Given the description of an element on the screen output the (x, y) to click on. 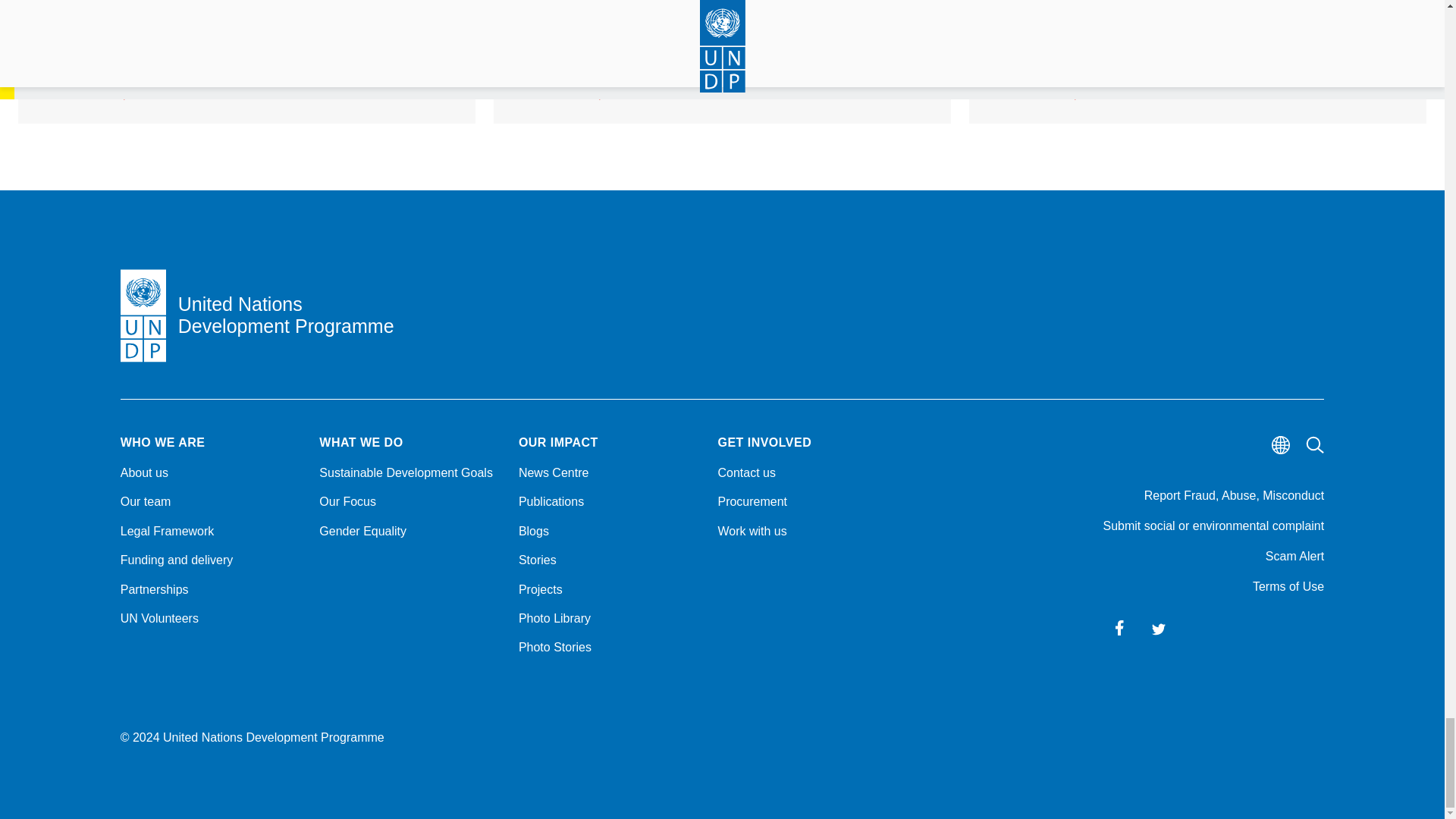
Flickr (1276, 627)
Twitter (1158, 627)
Our team (210, 501)
Legal Framework (210, 531)
About us (210, 473)
WHO WE ARE (210, 442)
Instagram (1198, 627)
Exposure (1315, 627)
